Given the description of an element on the screen output the (x, y) to click on. 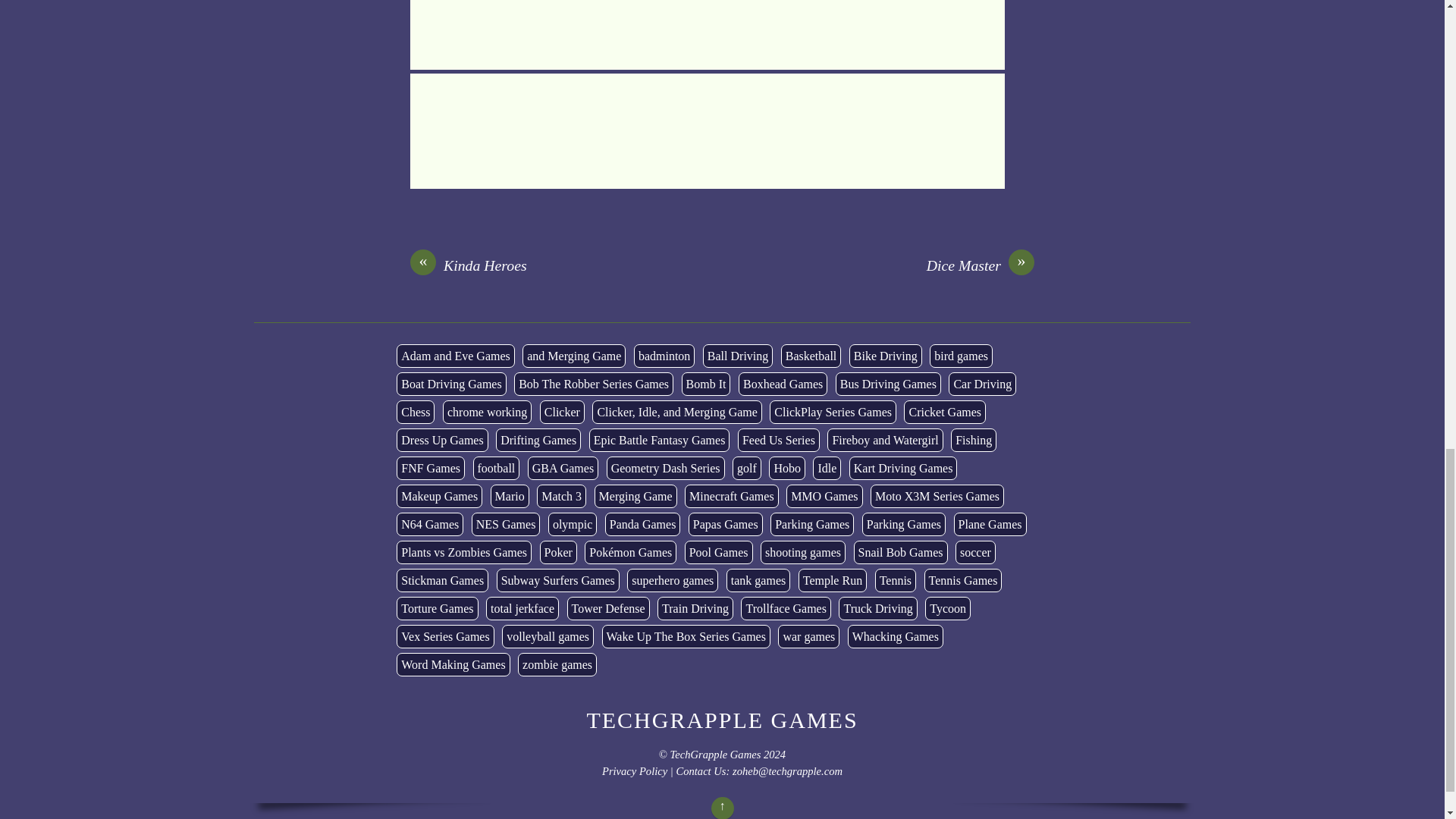
Bike Driving (884, 355)
TechGrapple Games (721, 719)
Adam and Eve Games (455, 355)
Ball Driving (738, 355)
badminton (663, 355)
and Merging Game (574, 355)
Basketball (810, 355)
